Given the description of an element on the screen output the (x, y) to click on. 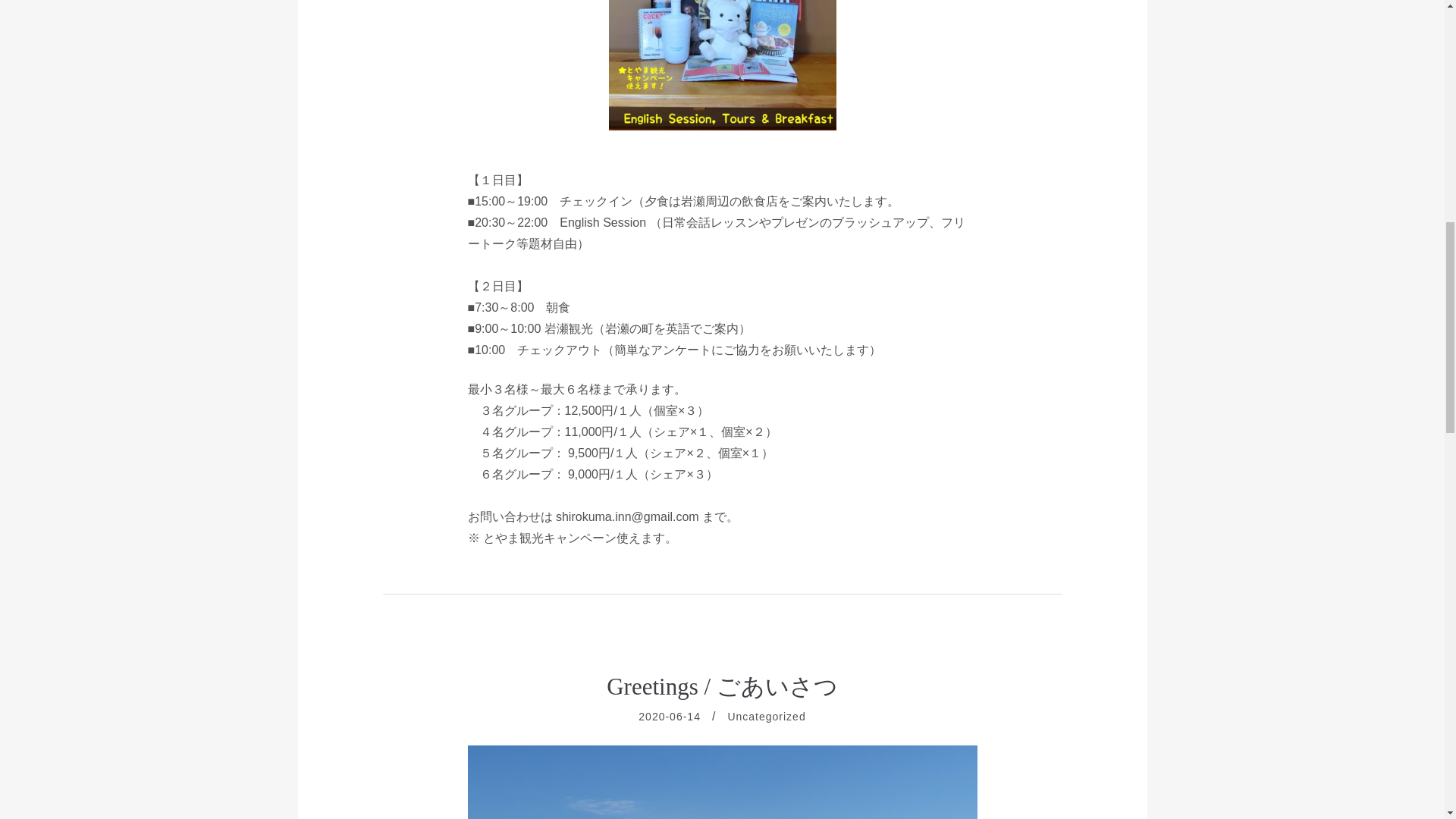
Uncategorized (765, 716)
2020-06-14 (669, 716)
